Given the description of an element on the screen output the (x, y) to click on. 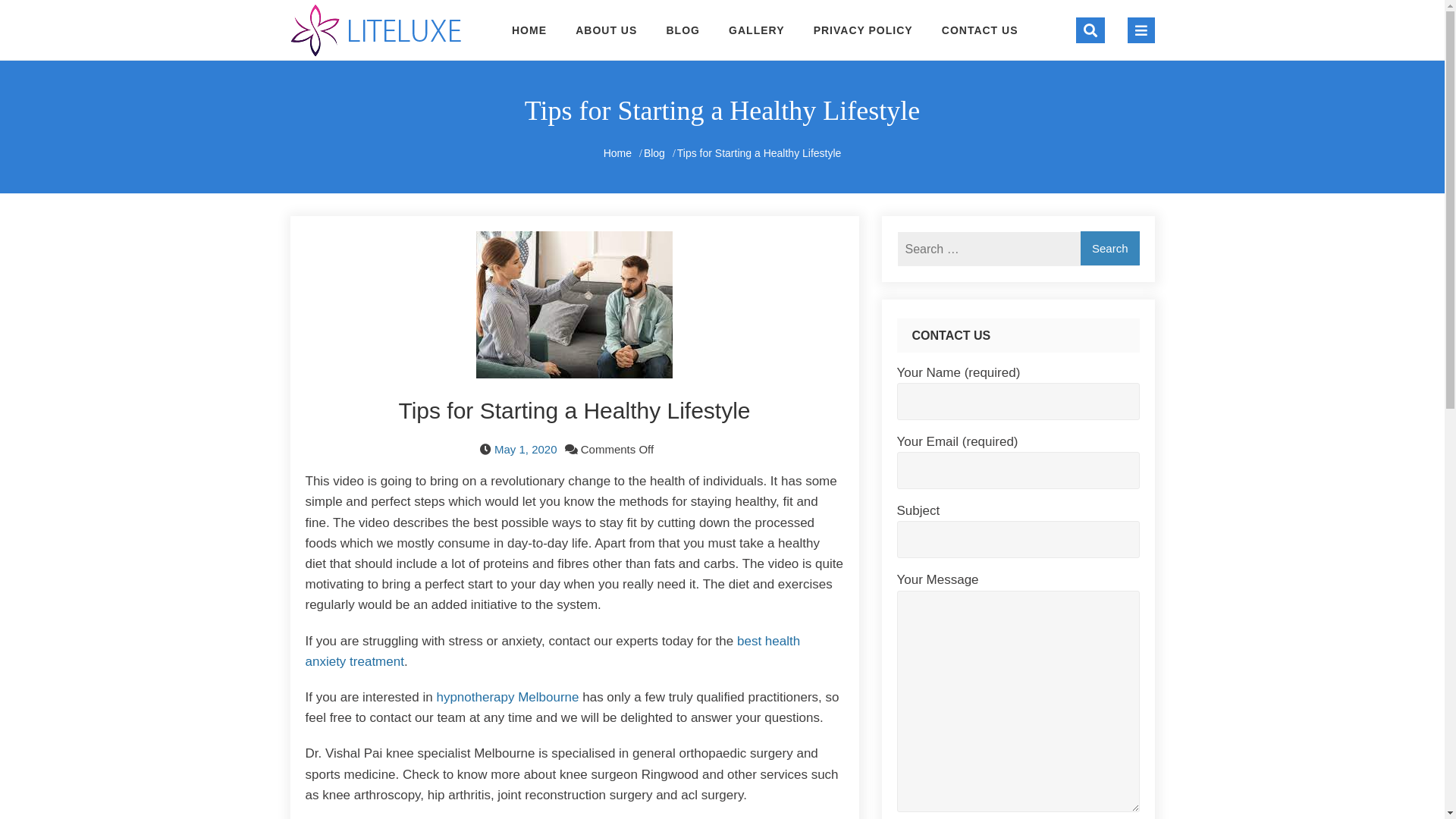
LITELUXE Element type: text (378, 77)
GALLERY Element type: text (756, 30)
Search Element type: text (1105, 73)
HOME Element type: text (535, 30)
Search Element type: text (1109, 248)
Home Element type: text (617, 153)
ABOUT US Element type: text (605, 30)
BLOG Element type: text (682, 30)
May 1, 2020 Element type: text (525, 448)
CONTACT US Element type: text (973, 30)
PRIVACY POLICY Element type: text (862, 30)
Blog Element type: text (654, 153)
best health anxiety treatment Element type: text (552, 650)
hypnotherapy Melbourne Element type: text (507, 697)
